Given the description of an element on the screen output the (x, y) to click on. 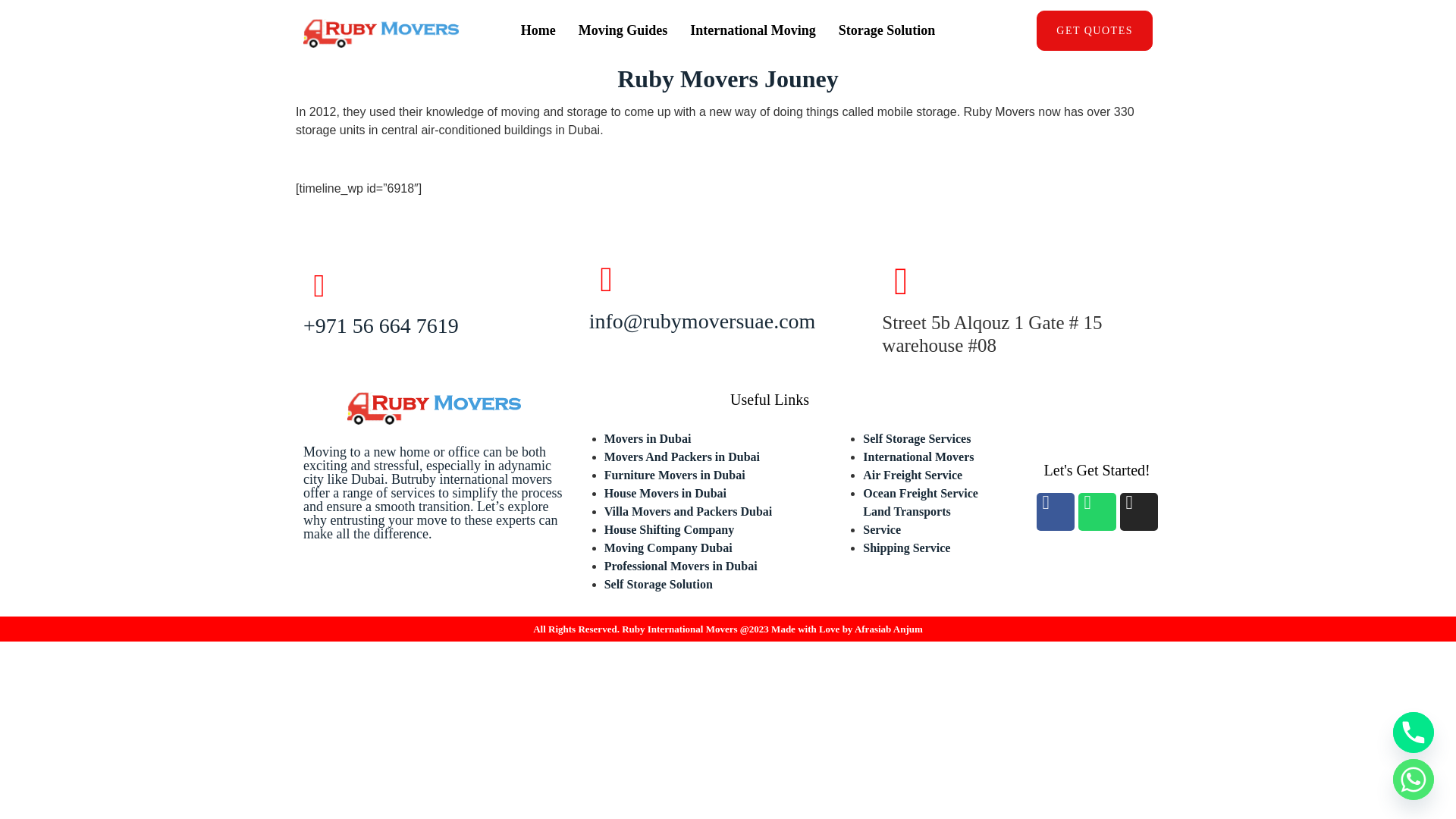
Movers in Dubai (647, 438)
Moving Guides (623, 30)
Villa Movers and Packers Dubai (688, 511)
Ocean Freight Service (920, 492)
Self Storage Solution (658, 584)
Land Transports Service (925, 529)
House Shifting Company (669, 529)
Self Storage Services (917, 438)
Shipping Service (906, 547)
International Movers (918, 456)
GET QUOTES (1094, 30)
International Moving (752, 30)
Professional Movers in Dubai (680, 565)
Moving Company Dubai (668, 547)
Storage Solution (887, 30)
